Given the description of an element on the screen output the (x, y) to click on. 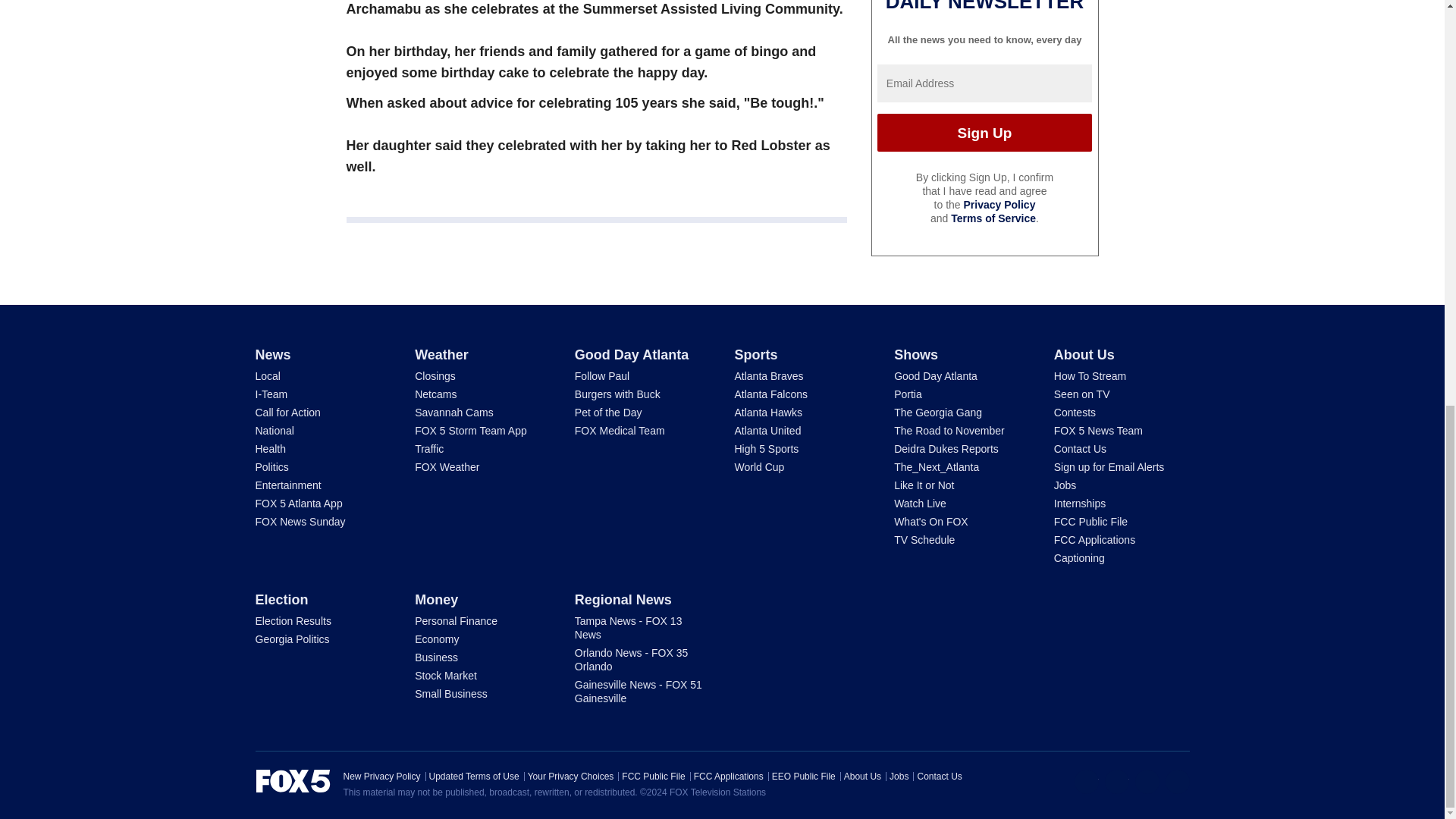
Sign Up (984, 132)
